Given the description of an element on the screen output the (x, y) to click on. 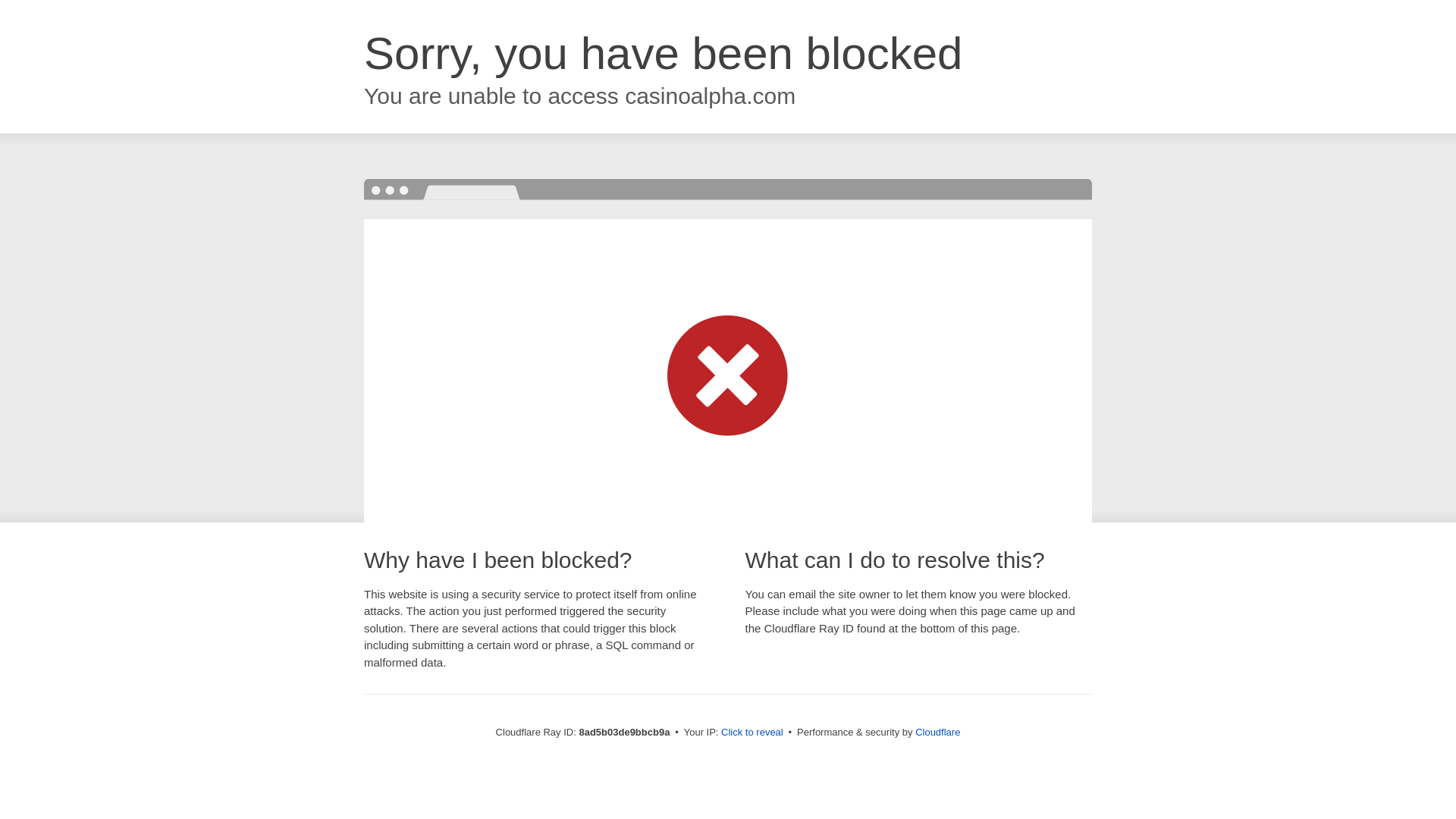
Cloudflare (937, 731)
Click to reveal (751, 732)
